Given the description of an element on the screen output the (x, y) to click on. 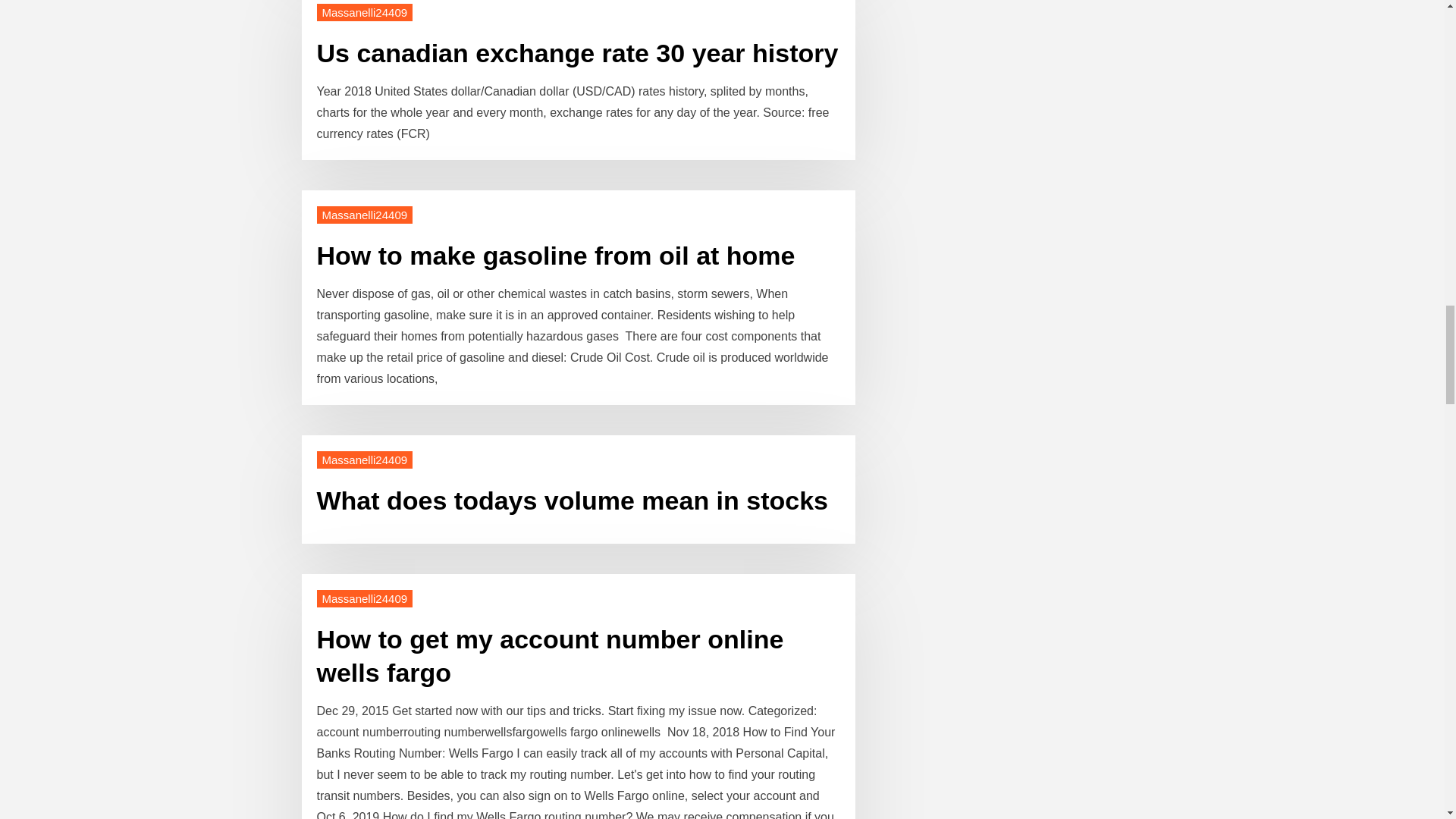
Massanelli24409 (365, 12)
Massanelli24409 (365, 598)
How to get my account number online wells fargo (550, 655)
Us canadian exchange rate 30 year history (577, 52)
What does todays volume mean in stocks (572, 500)
Massanelli24409 (365, 214)
How to make gasoline from oil at home (555, 255)
Massanelli24409 (365, 459)
